Given the description of an element on the screen output the (x, y) to click on. 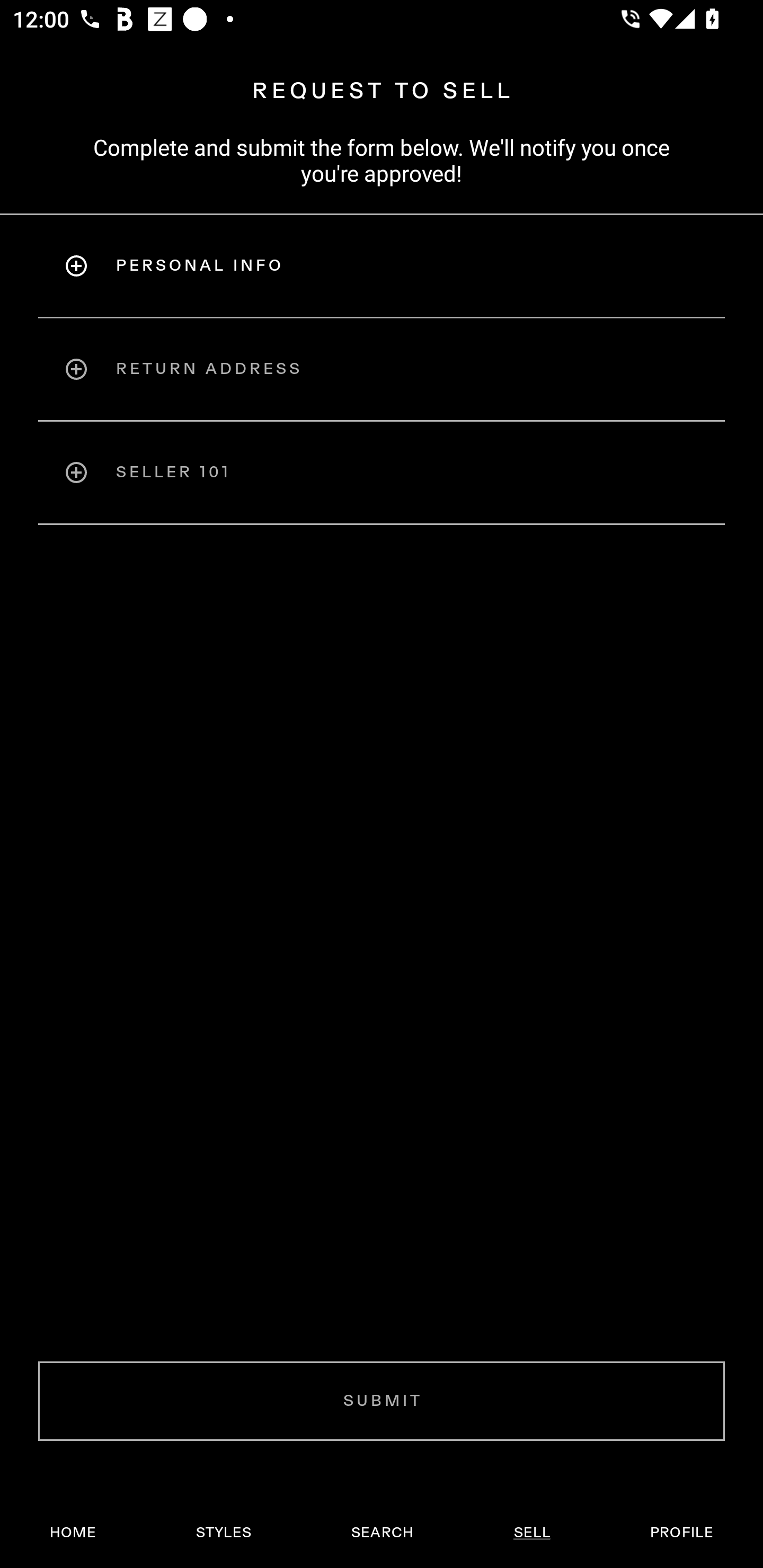
PERSONAL INFO (381, 265)
RETURN ADDRESS (381, 369)
SELLER 101 (381, 472)
SUBMIT (381, 1400)
HOME (72, 1532)
STYLES (222, 1532)
SEARCH (381, 1532)
SELL (531, 1532)
PROFILE (681, 1532)
